Given the description of an element on the screen output the (x, y) to click on. 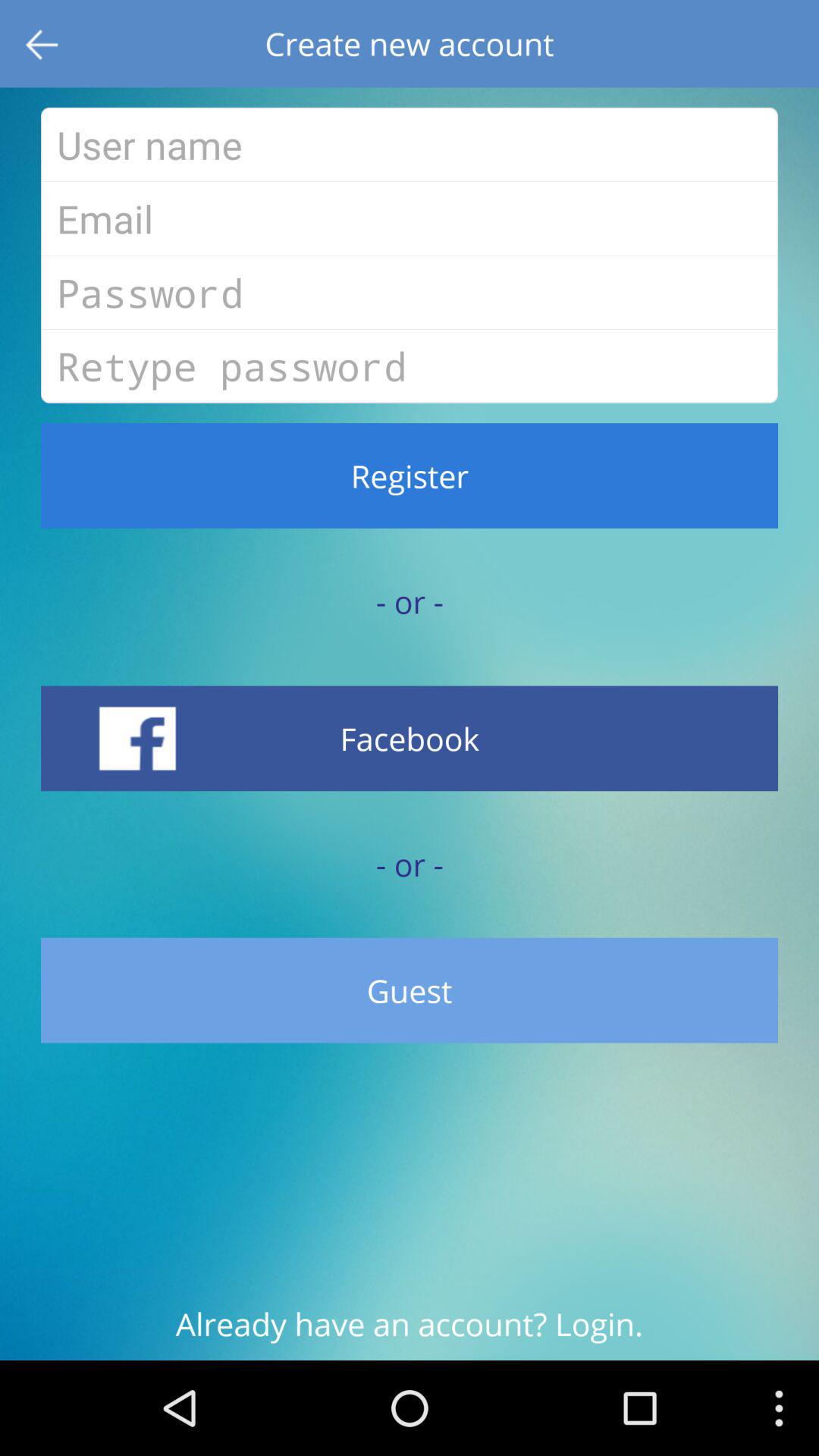
click the register item (409, 475)
